Given the description of an element on the screen output the (x, y) to click on. 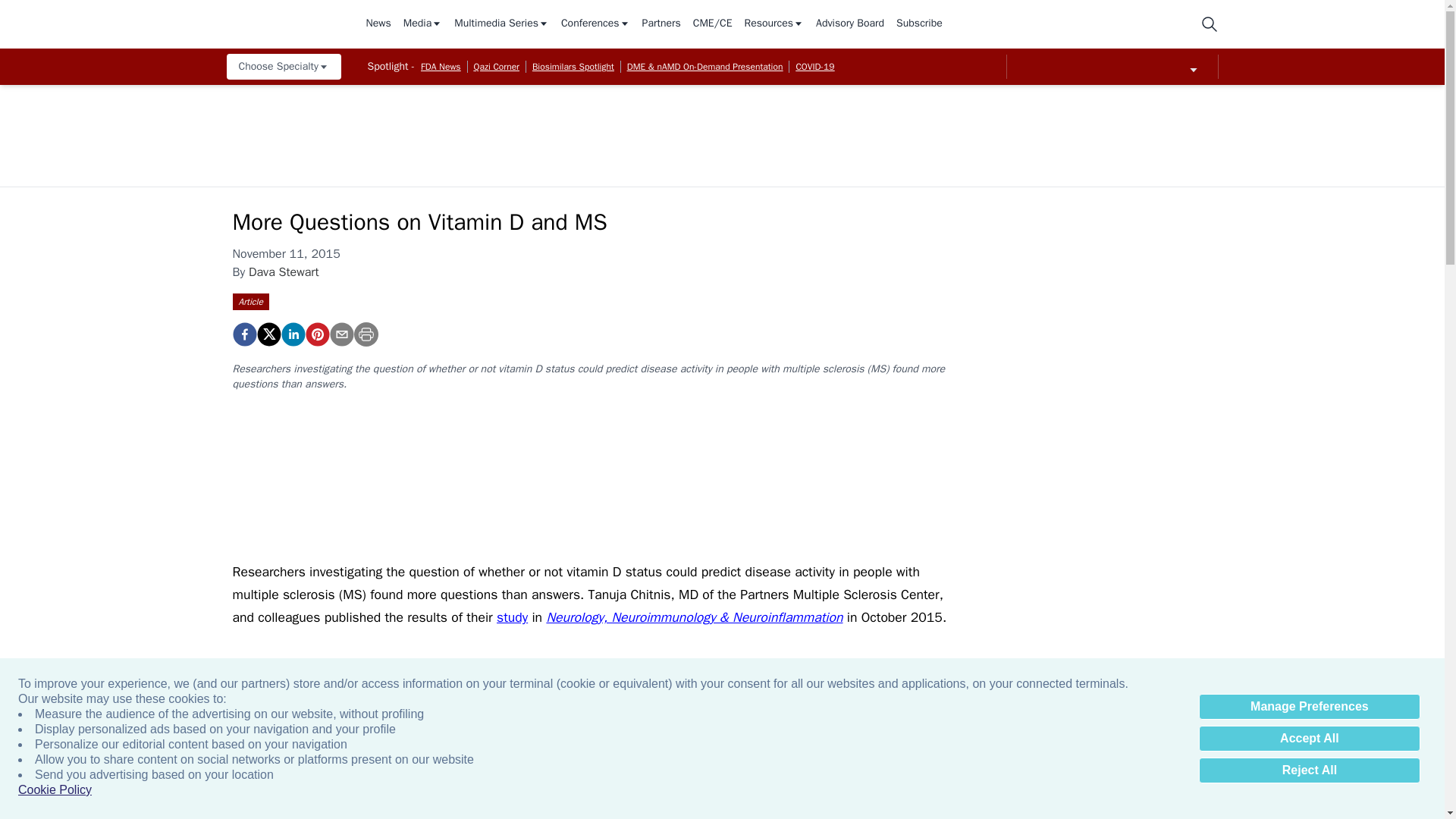
Conferences (595, 23)
Accept All (1309, 738)
Reject All (1309, 769)
Resources (773, 23)
News (377, 23)
Advisory Board (849, 23)
Partners (661, 23)
Manage Preferences (1309, 706)
More Questions on Vitamin D and MS (243, 334)
Cookie Policy (54, 789)
Choose Specialty (282, 66)
Multimedia Series (501, 23)
Media (422, 23)
More Questions on Vitamin D and MS (316, 334)
Subscribe (919, 23)
